Given the description of an element on the screen output the (x, y) to click on. 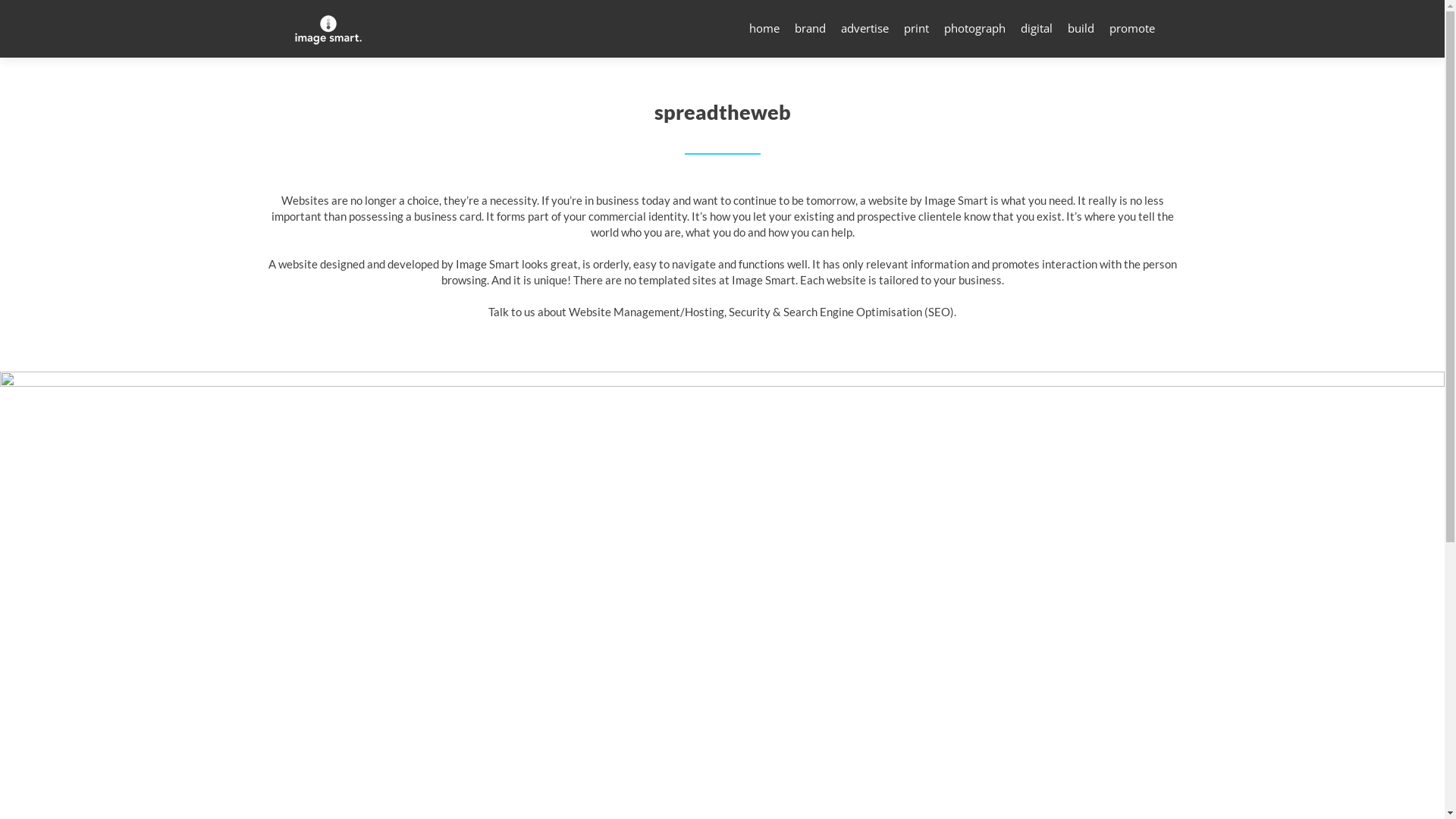
promote Element type: text (1131, 28)
brand Element type: text (809, 28)
print Element type: text (915, 28)
advertise Element type: text (864, 28)
home Element type: text (764, 28)
digital Element type: text (1036, 28)
build Element type: text (1080, 28)
photograph Element type: text (973, 28)
